Given the description of an element on the screen output the (x, y) to click on. 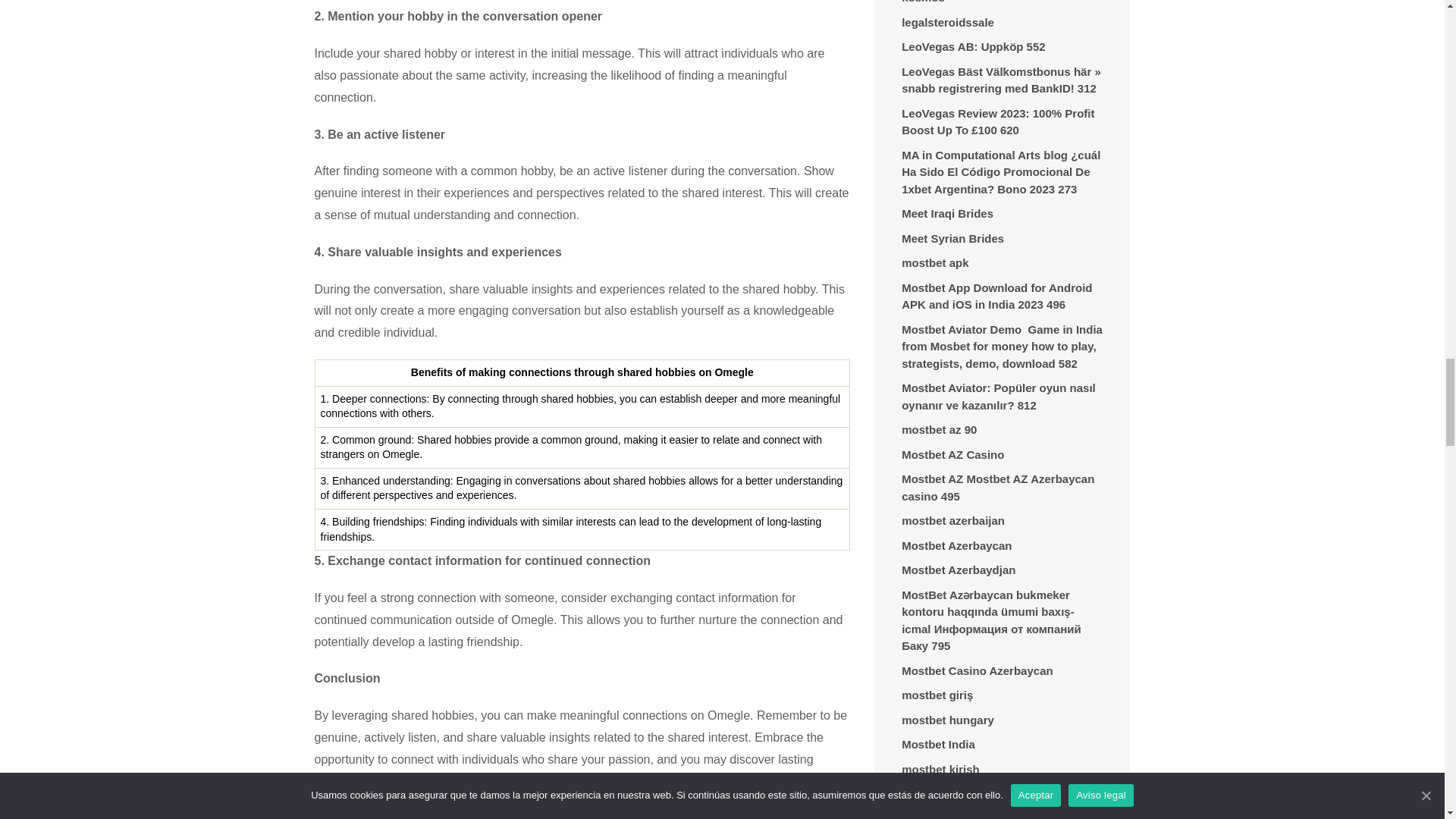
Omegle (611, 814)
